Given the description of an element on the screen output the (x, y) to click on. 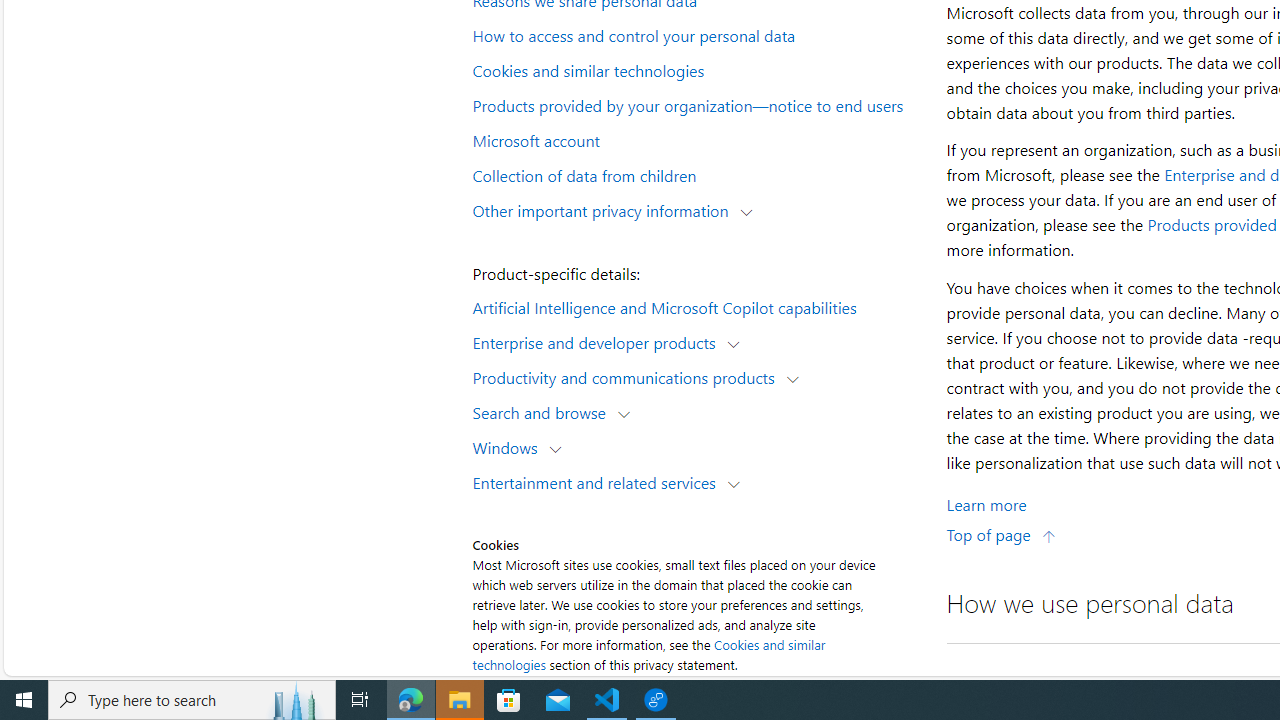
Microsoft account (696, 139)
